Given the description of an element on the screen output the (x, y) to click on. 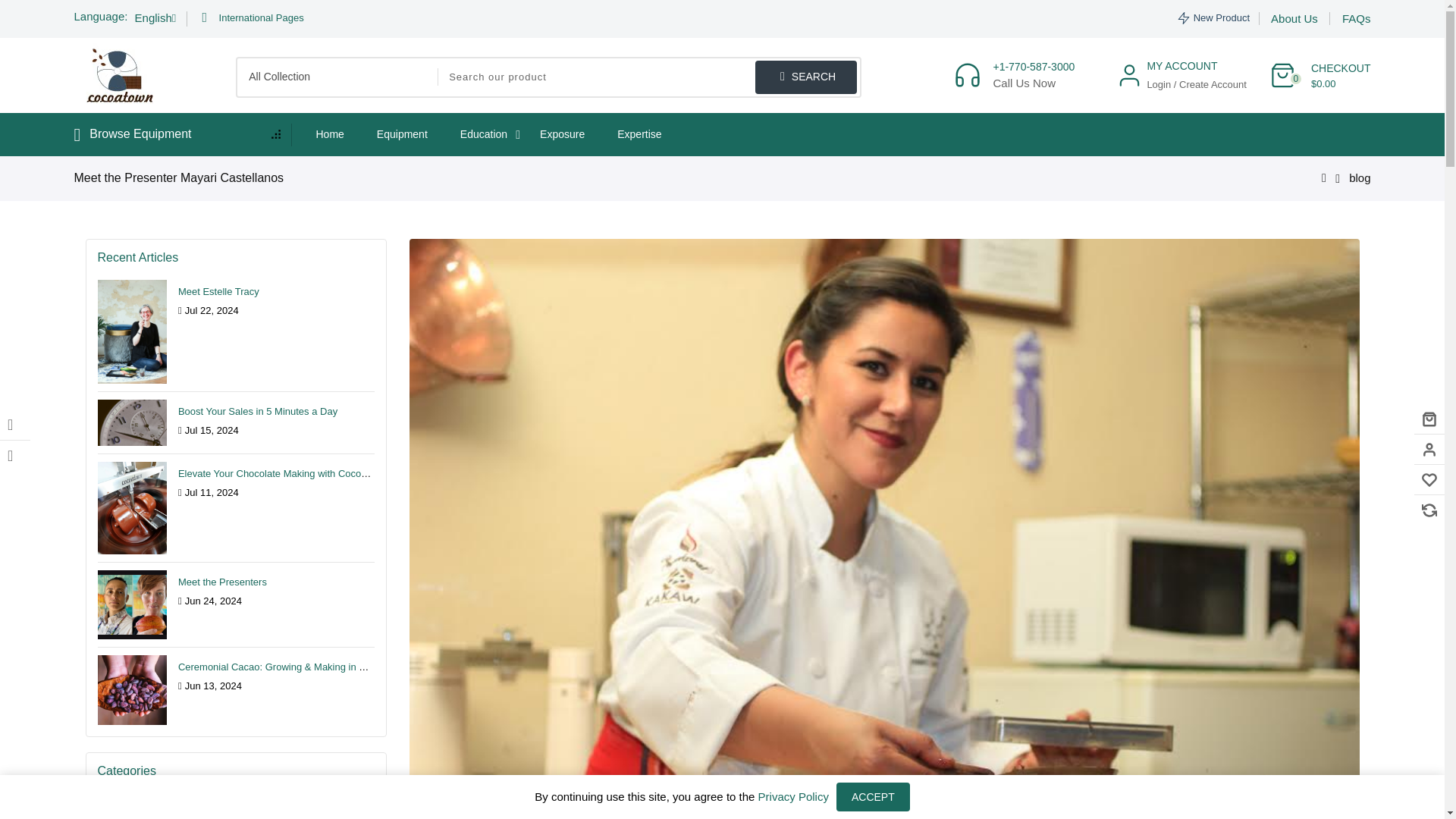
International Pages (252, 18)
CocoaTown on Instagram (15, 455)
track-order (252, 18)
menu-icon (177, 134)
My Account (1181, 75)
English (161, 18)
SEARCH (806, 77)
New Product (1213, 18)
CocoaTown (119, 75)
FAQs (1356, 18)
CocoaTown on Facebook (15, 424)
About Us (1294, 18)
